Given the description of an element on the screen output the (x, y) to click on. 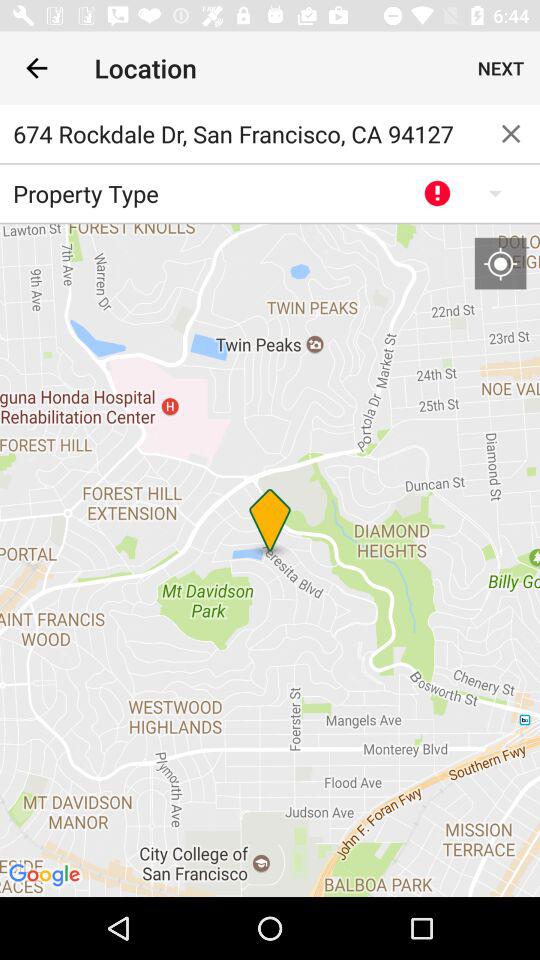
center map (500, 263)
